Given the description of an element on the screen output the (x, y) to click on. 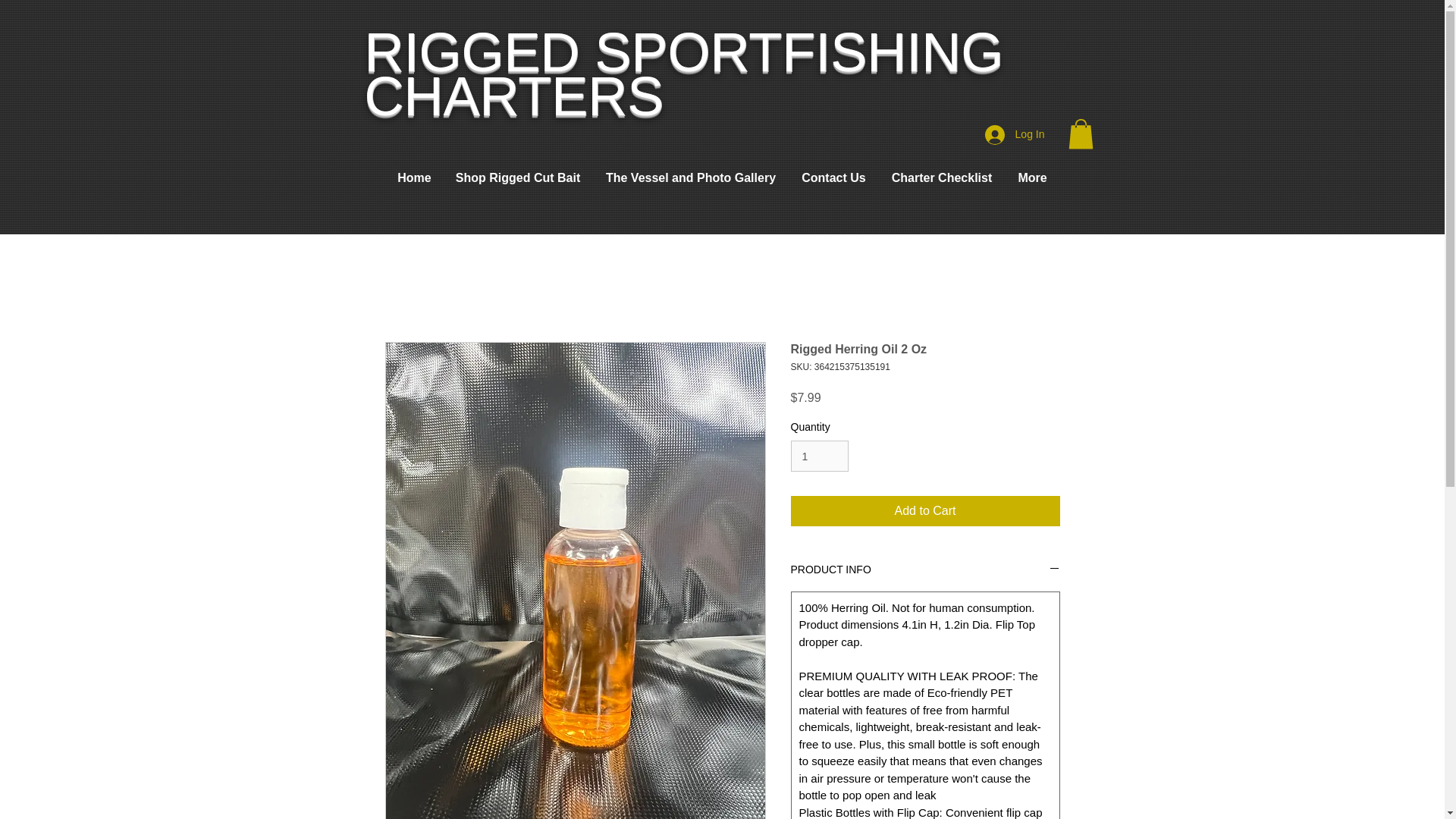
1 (818, 455)
Facebook Like (445, 138)
PRODUCT INFO (924, 570)
Charter Checklist (941, 178)
The Vessel and Photo Gallery (690, 178)
Add to Cart (924, 511)
Shop Rigged Cut Bait (518, 178)
Log In (1014, 134)
